Given the description of an element on the screen output the (x, y) to click on. 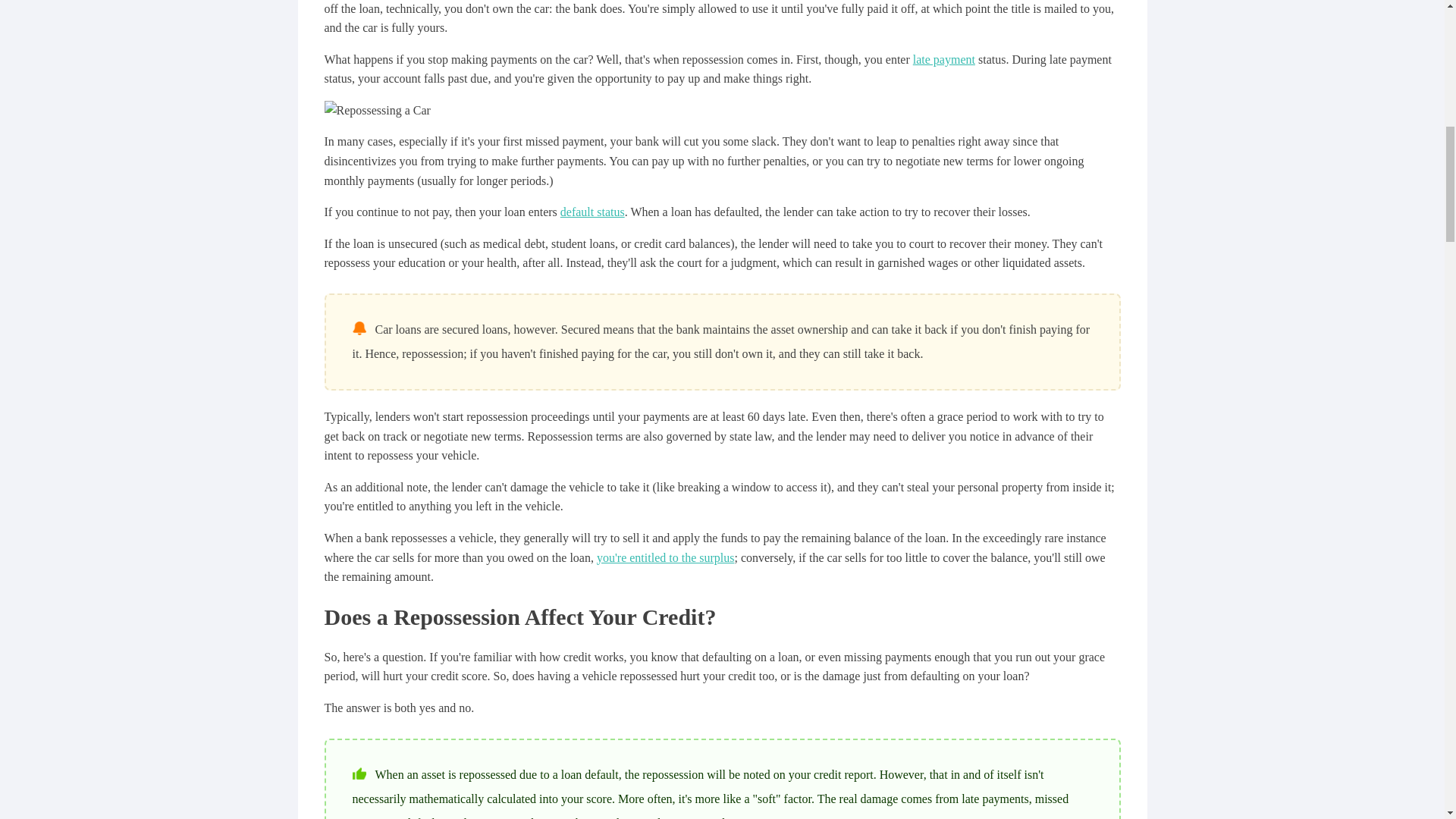
you're entitled to the surplus (665, 557)
late payment (943, 59)
default status (592, 211)
